Given the description of an element on the screen output the (x, y) to click on. 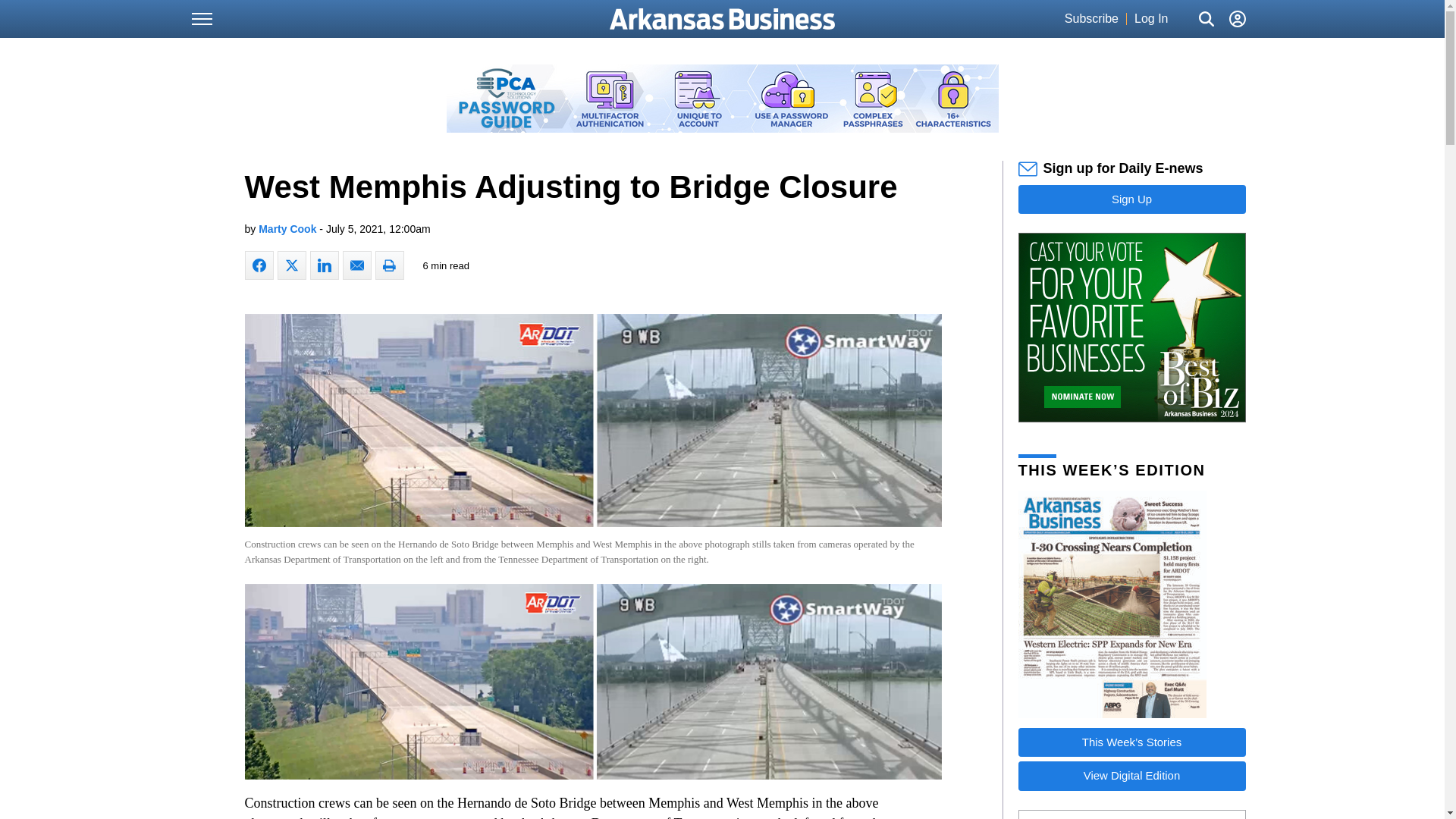
Share on Facebook (258, 265)
Subscribe (1091, 19)
Share on Email (356, 265)
Share on Print (388, 265)
Posts by Marty Cook (287, 228)
Share on LinkedIn (322, 265)
Log In (1150, 19)
Share on Twitter (291, 265)
